Given the description of an element on the screen output the (x, y) to click on. 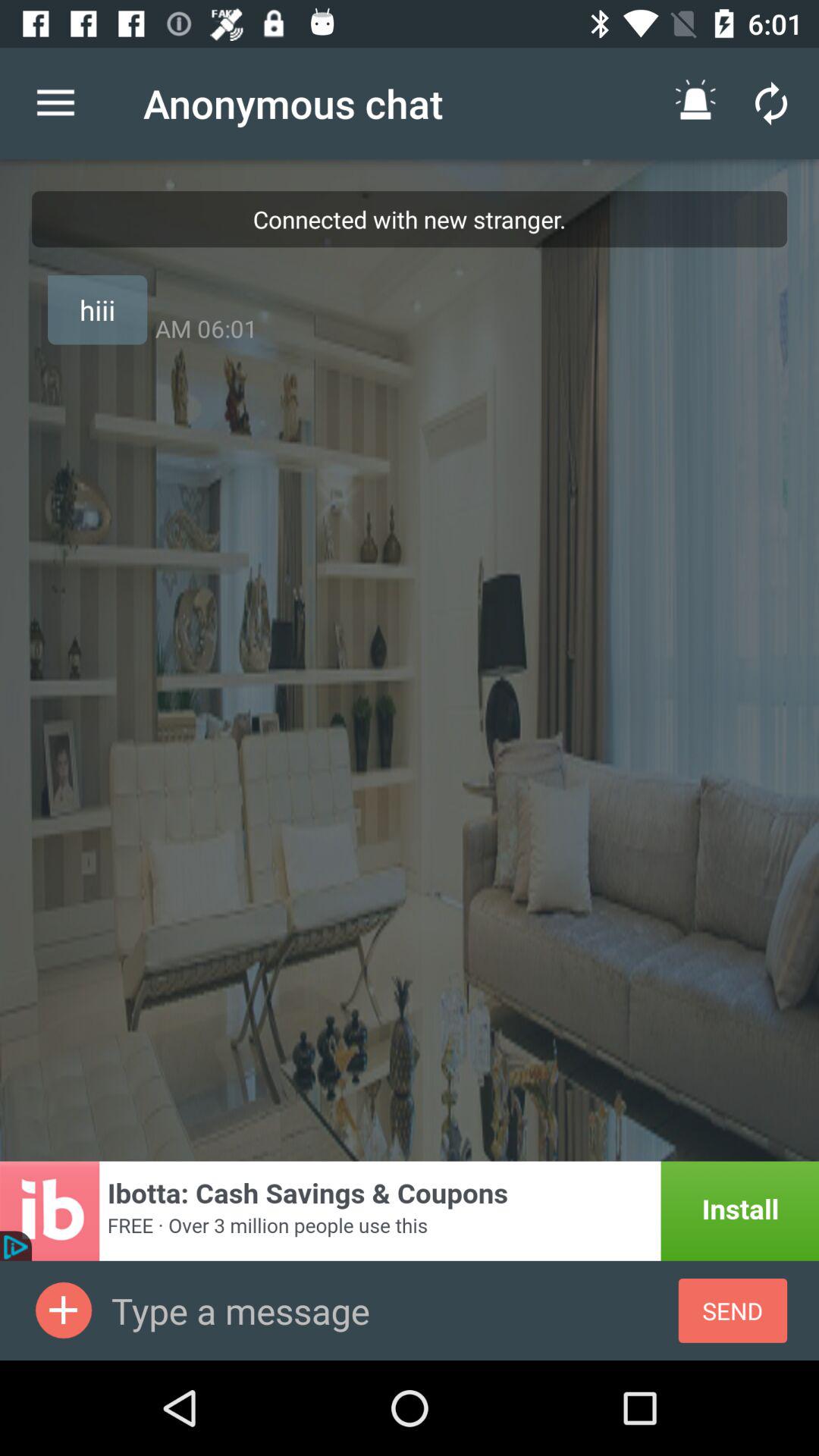
add content (63, 1310)
